Given the description of an element on the screen output the (x, y) to click on. 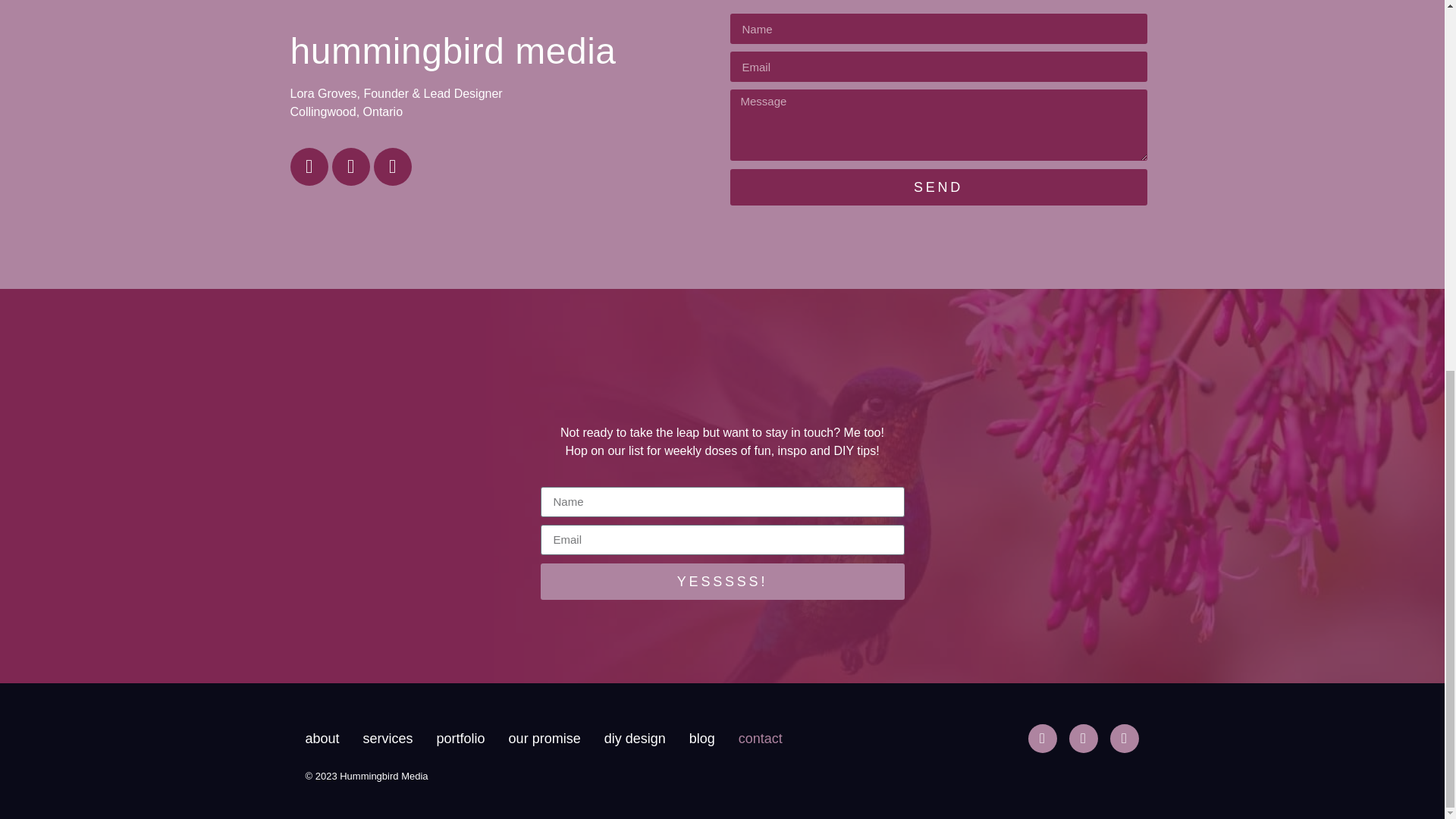
services (387, 738)
blog (701, 738)
our promise (544, 738)
SEND (938, 186)
diy design (634, 738)
contact (760, 738)
YESSSSS! (722, 581)
about (321, 738)
portfolio (460, 738)
